Given the description of an element on the screen output the (x, y) to click on. 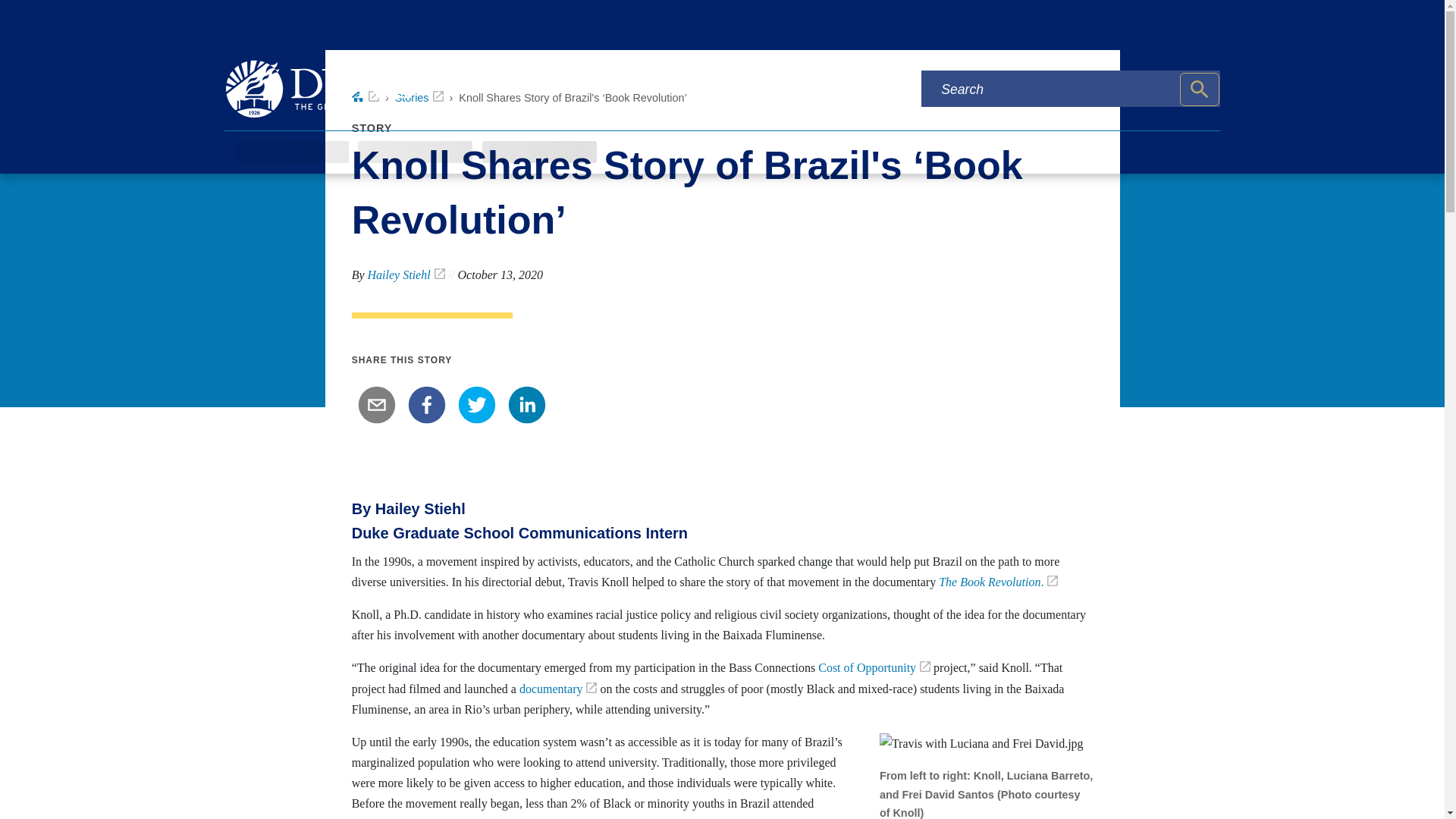
Home (365, 97)
Cost of Opportunity (874, 667)
The Book Revolution. (998, 581)
Stories (419, 97)
documentary (557, 688)
Hailey Stiehl (406, 274)
